Given the description of an element on the screen output the (x, y) to click on. 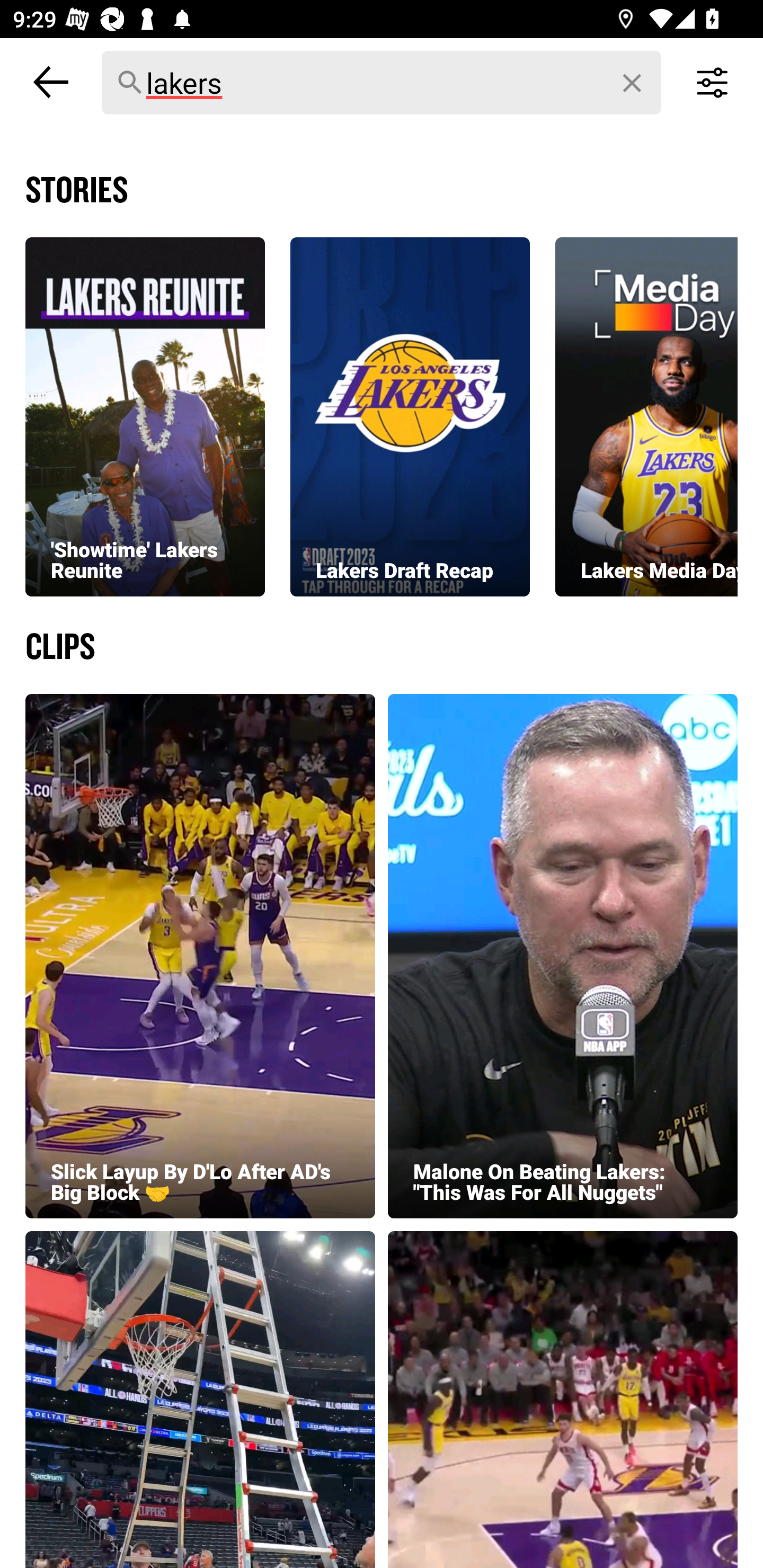
close (50, 81)
Search Filters (711, 81)
search lakers clear (381, 82)
lakers (381, 82)
clear (632, 82)
'Showtime' Lakers Reunite (144, 415)
Lakers Draft Recap (409, 415)
Lakers Media Day (646, 415)
Slick Layup By D'Lo After AD's Big Block 🤝 (200, 956)
